Given the description of an element on the screen output the (x, y) to click on. 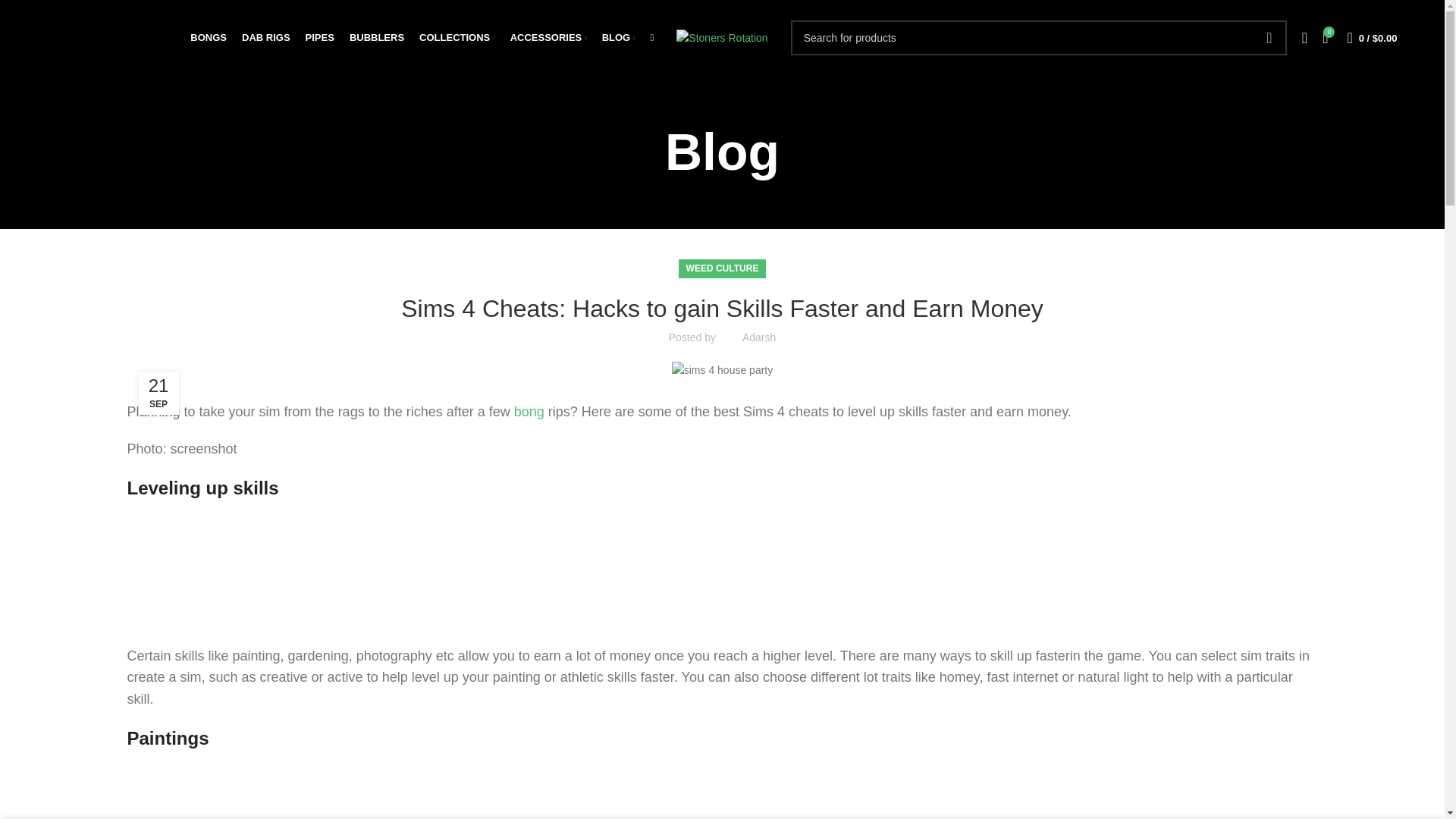
COLLECTIONS (457, 37)
BLOG (618, 37)
Shopping cart (1372, 37)
PIPES (319, 37)
DAB RIGS (265, 37)
BONGS (208, 37)
Search for products (1038, 37)
BUBBLERS (376, 37)
ACCESSORIES (548, 37)
